Given the description of an element on the screen output the (x, y) to click on. 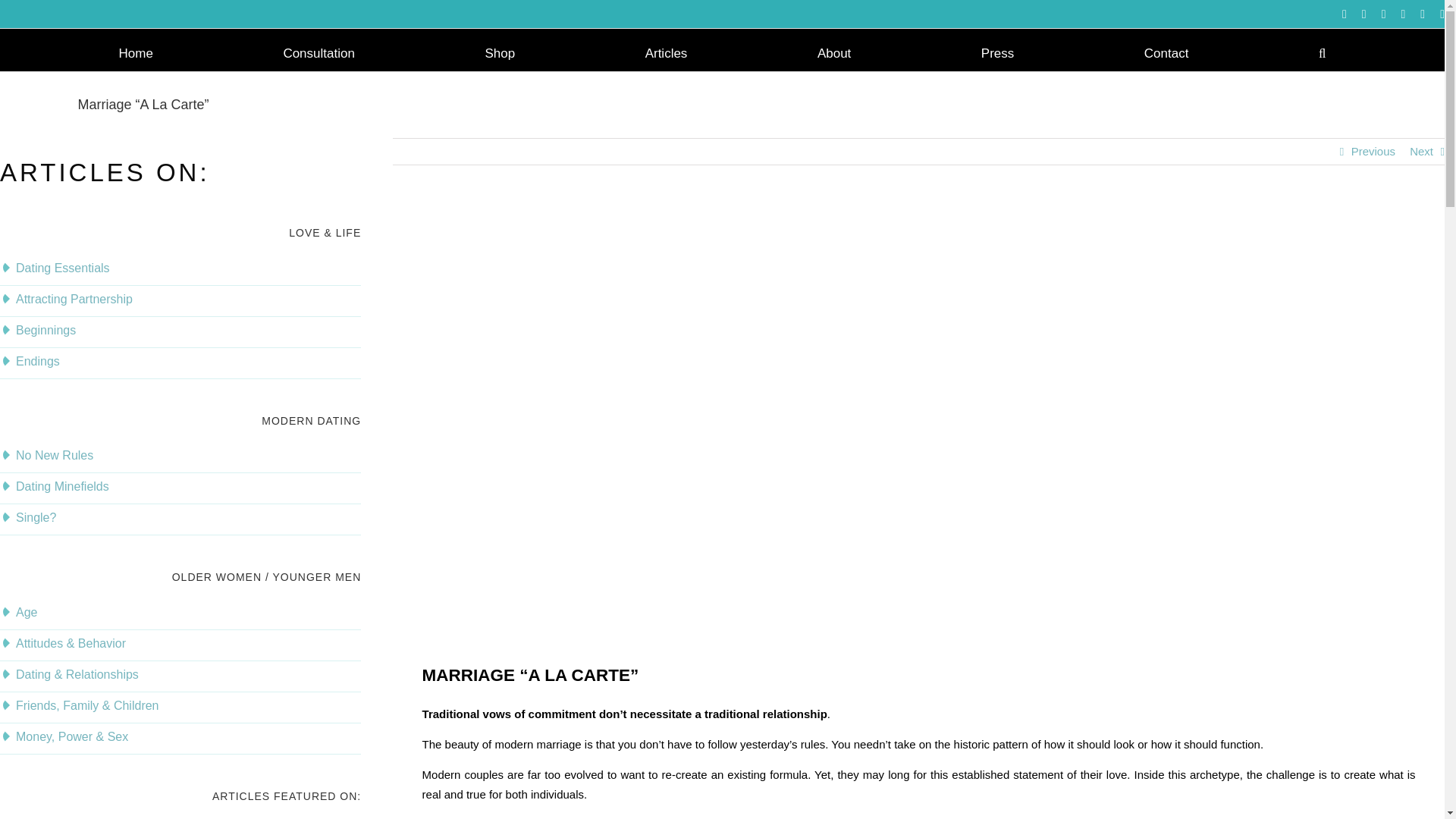
Consultation (318, 52)
About (833, 52)
Press (997, 52)
Contact (1166, 52)
Next (1420, 151)
Shop (499, 52)
Articles (666, 52)
Previous (1372, 151)
Home (135, 52)
